Given the description of an element on the screen output the (x, y) to click on. 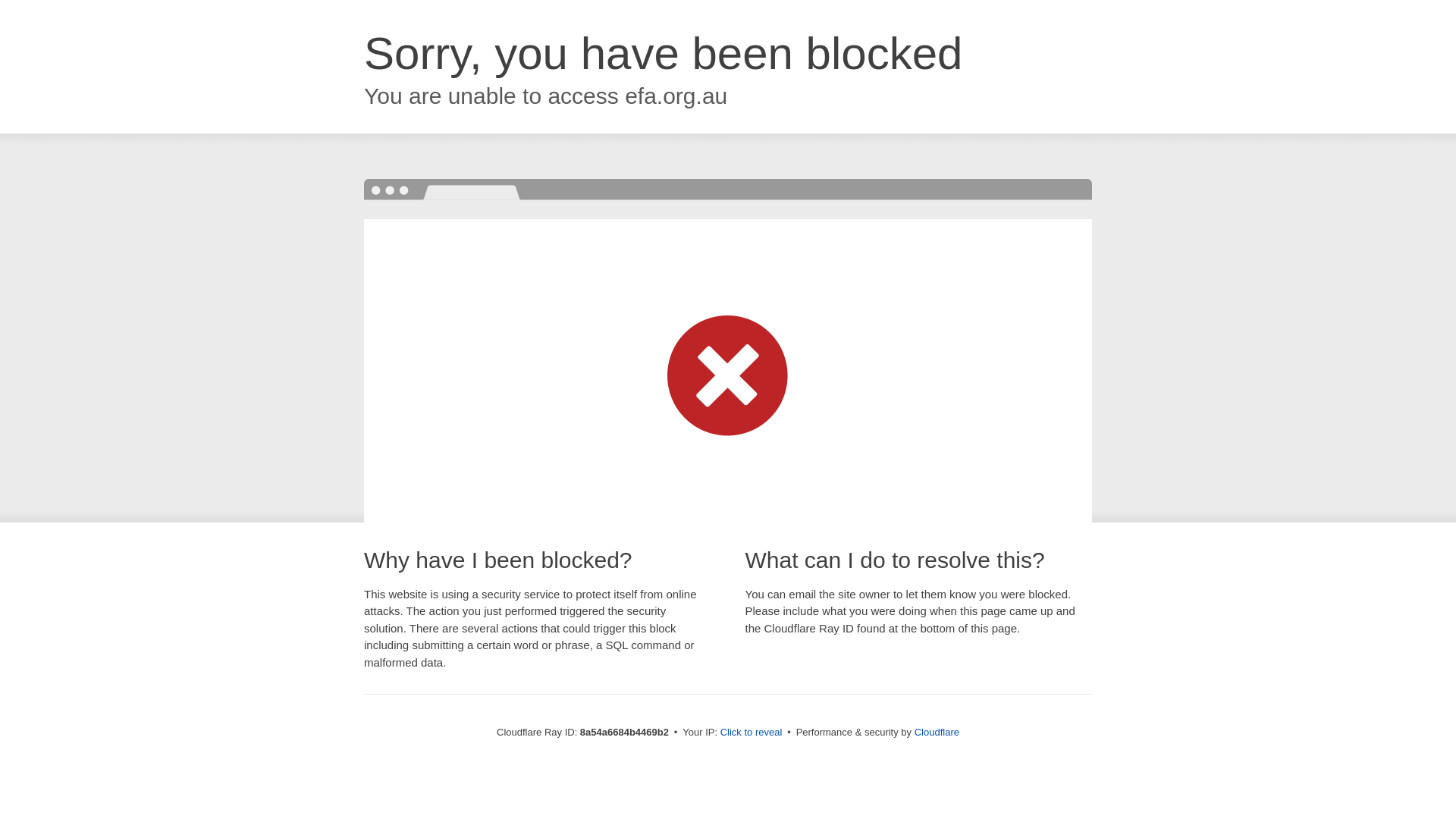
Cloudflare (936, 731)
Click to reveal (751, 732)
